Given the description of an element on the screen output the (x, y) to click on. 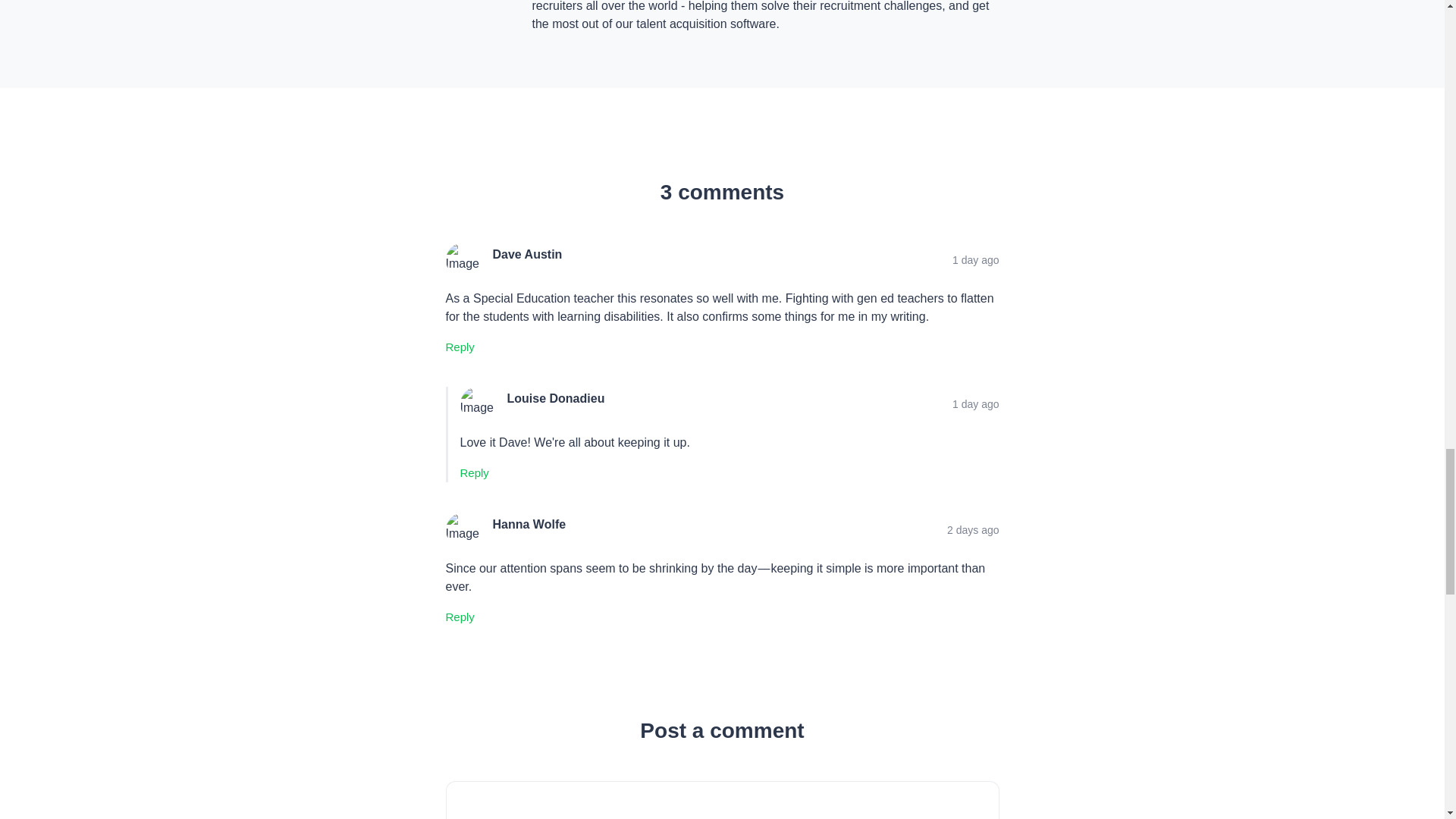
Reply (473, 473)
Reply (459, 347)
Reply (459, 617)
